Given the description of an element on the screen output the (x, y) to click on. 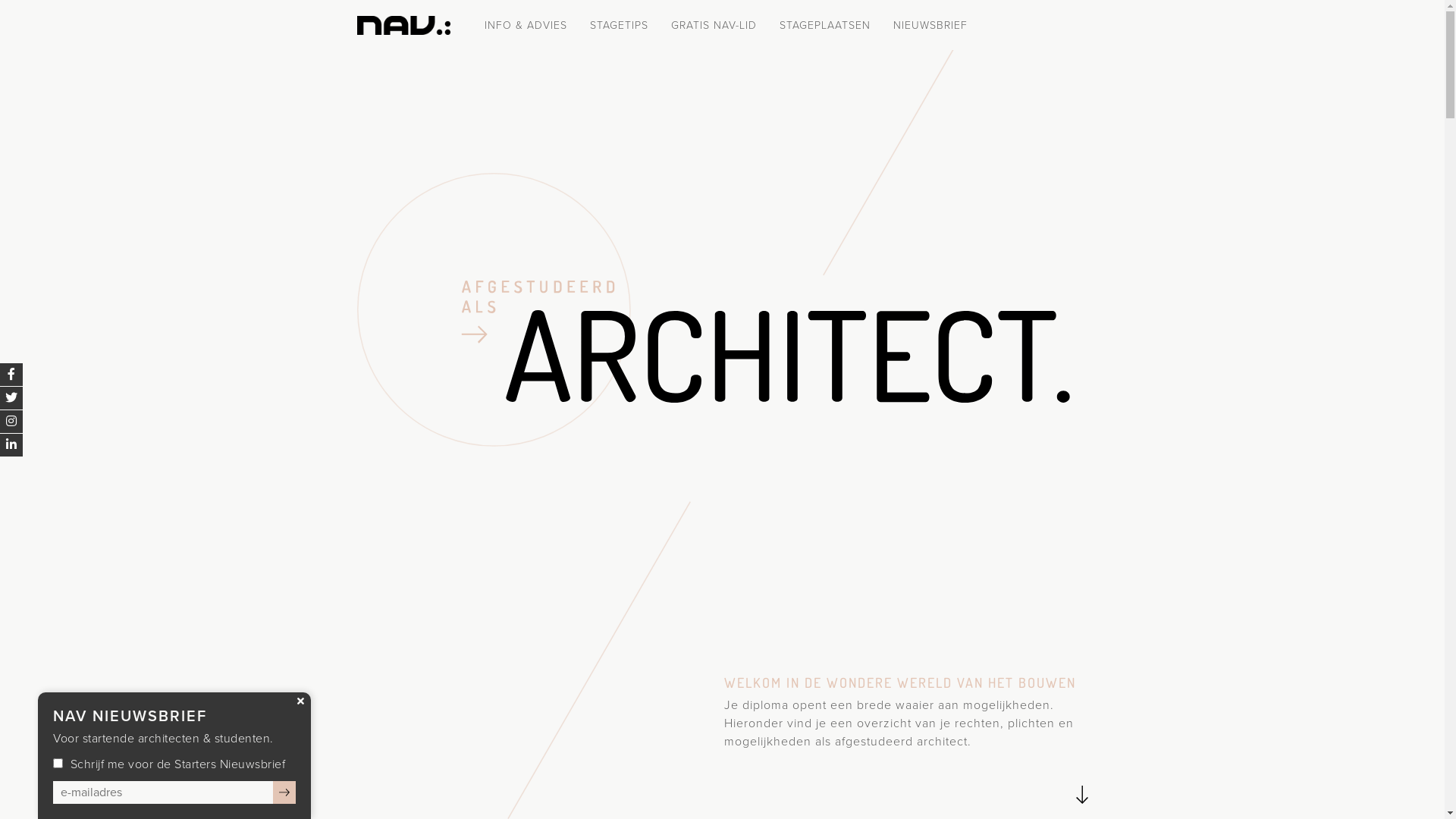
STAGETIPS Element type: text (618, 24)
STAGEPLAATSEN Element type: text (824, 24)
GRATIS NAV-LID Element type: text (713, 24)
INFO & ADVIES Element type: text (524, 24)
NIEUWSBRIEF Element type: text (930, 24)
